Given the description of an element on the screen output the (x, y) to click on. 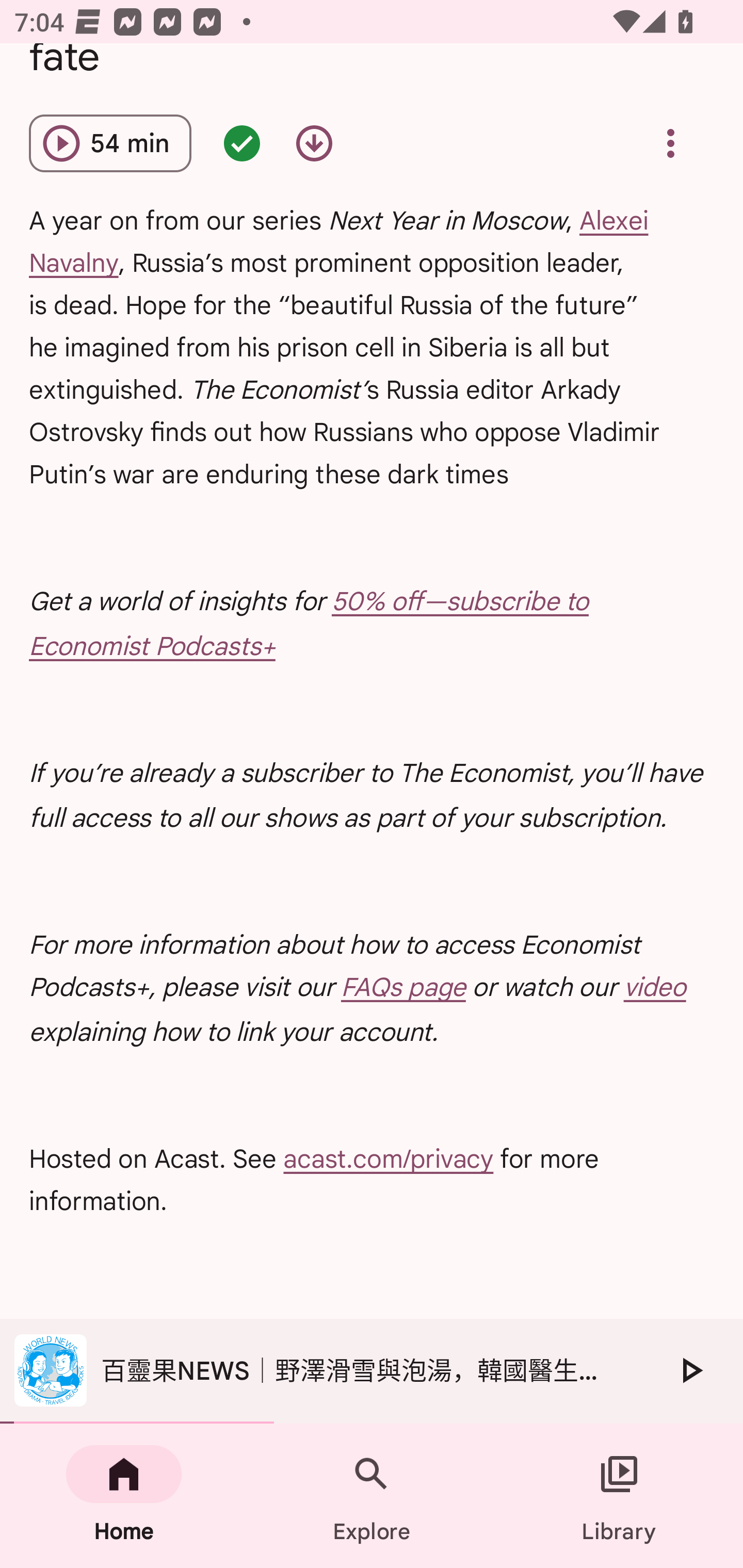
Episode queued - double tap for options (241, 143)
Download episode (313, 143)
Overflow menu (670, 143)
Play (690, 1370)
Explore (371, 1495)
Library (619, 1495)
